Given the description of an element on the screen output the (x, y) to click on. 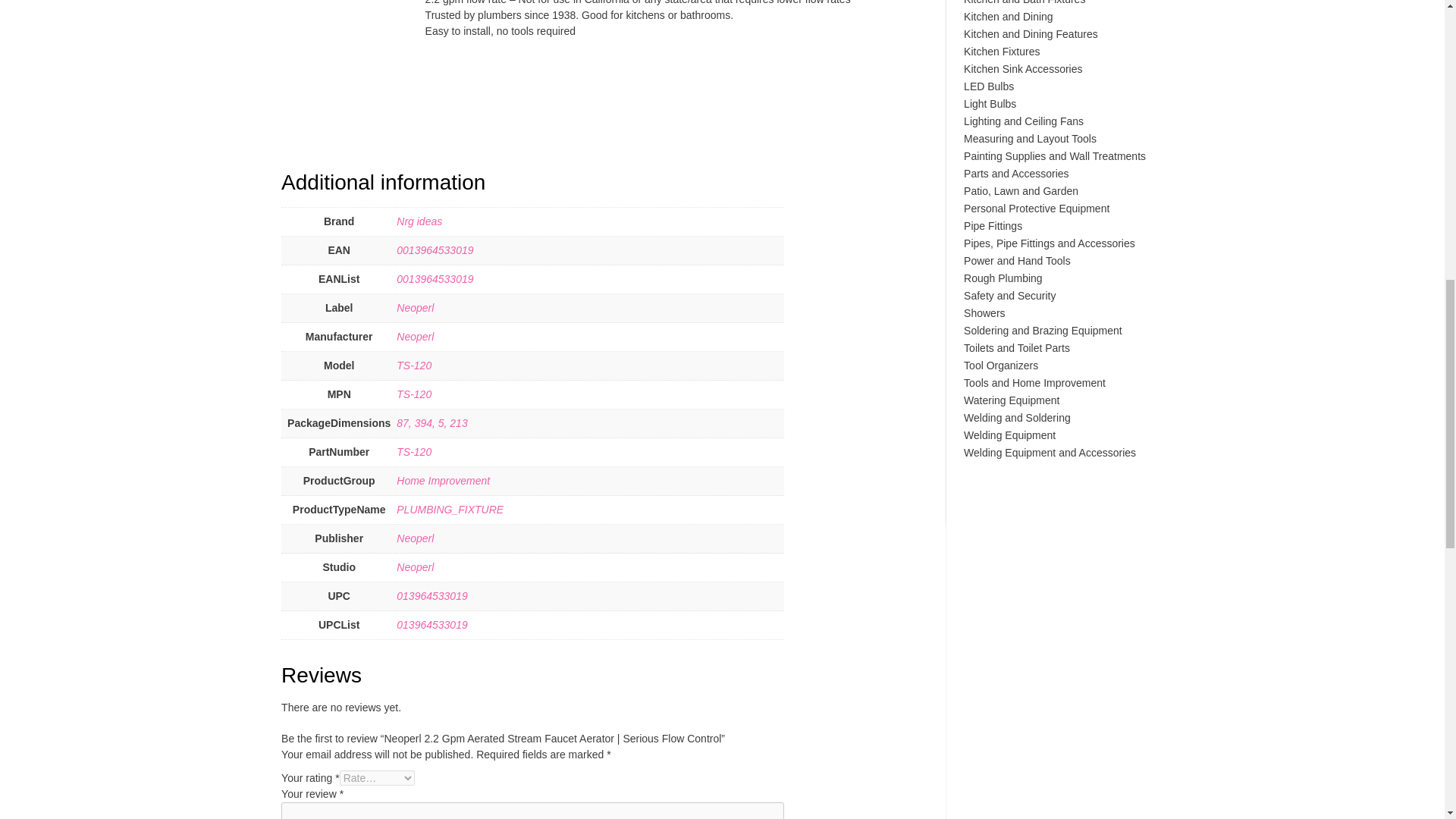
TS-120 (413, 365)
Nrg ideas (419, 221)
TS-120 (413, 394)
Neoperl (414, 336)
0013964533019 (434, 278)
Neoperl (414, 307)
0013964533019 (434, 250)
